Given the description of an element on the screen output the (x, y) to click on. 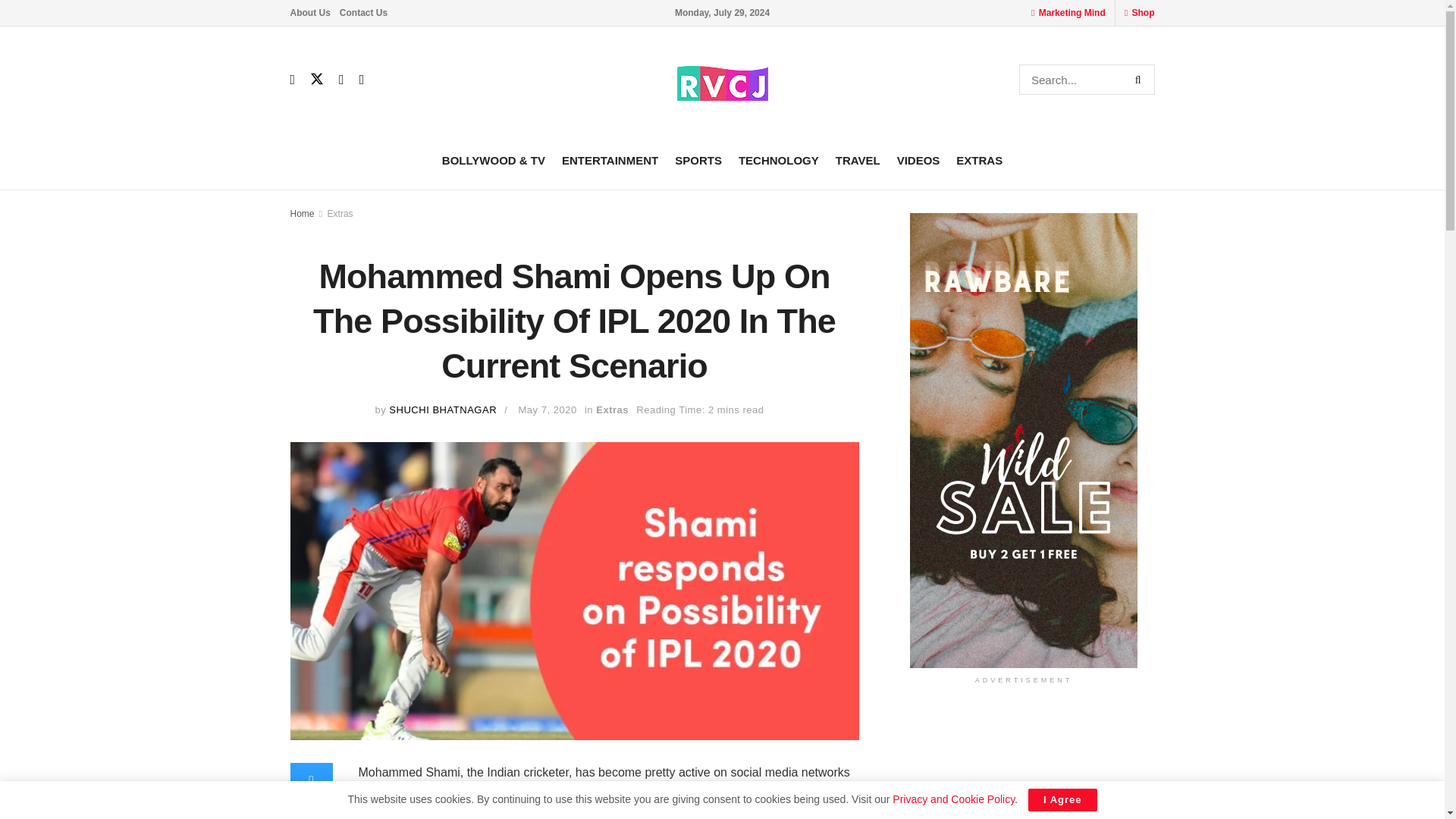
EXTRAS (979, 160)
SHUCHI BHATNAGAR (442, 409)
About Us (309, 12)
SPORTS (698, 160)
VIDEOS (918, 160)
Shop (1143, 12)
Extras (340, 213)
ENTERTAINMENT (610, 160)
Marketing Mind (1072, 12)
Contact Us (363, 12)
TECHNOLOGY (778, 160)
TRAVEL (857, 160)
Home (301, 213)
